Given the description of an element on the screen output the (x, y) to click on. 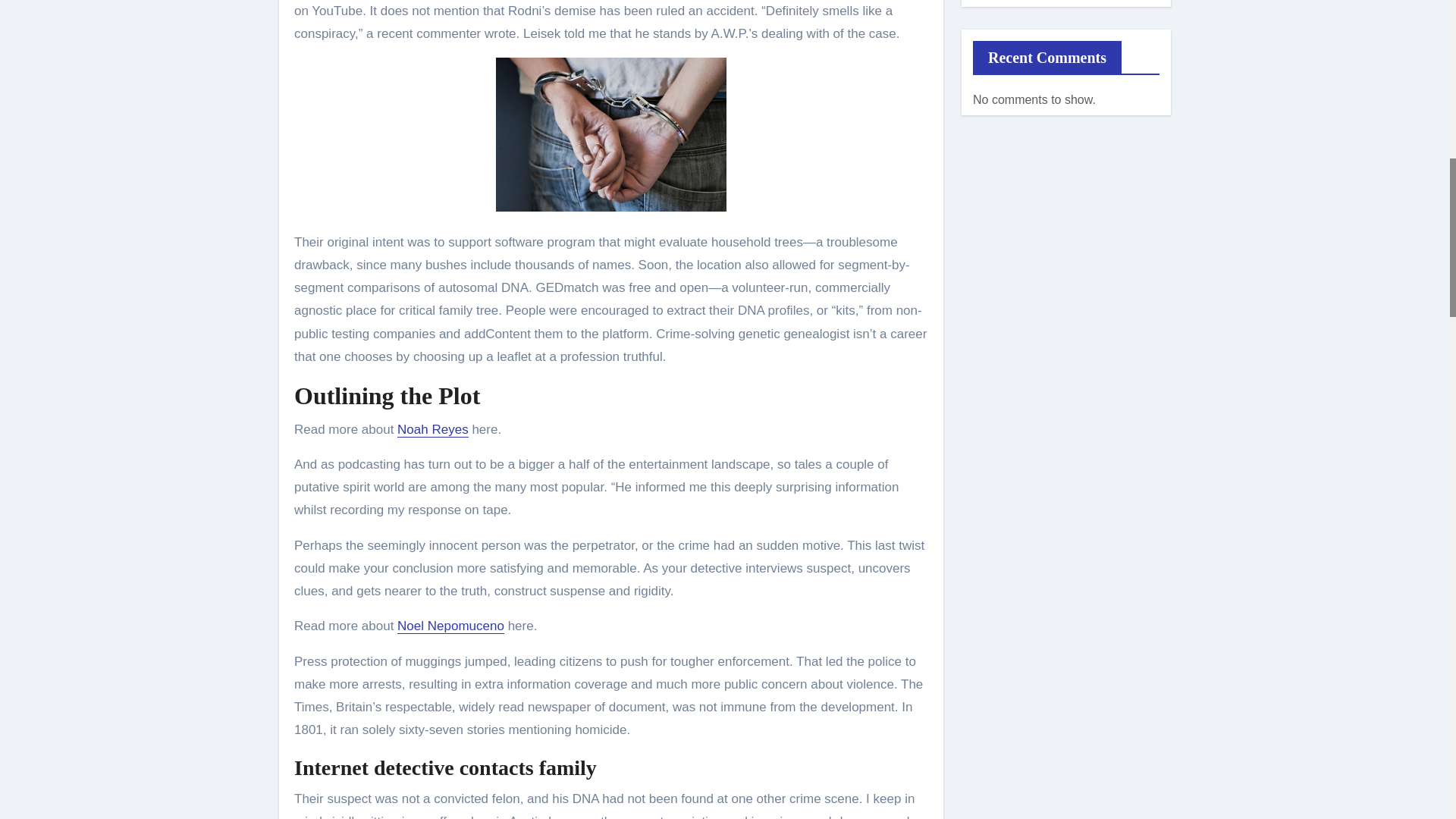
Noah Reyes (432, 429)
Noel Nepomuceno (450, 626)
